Given the description of an element on the screen output the (x, y) to click on. 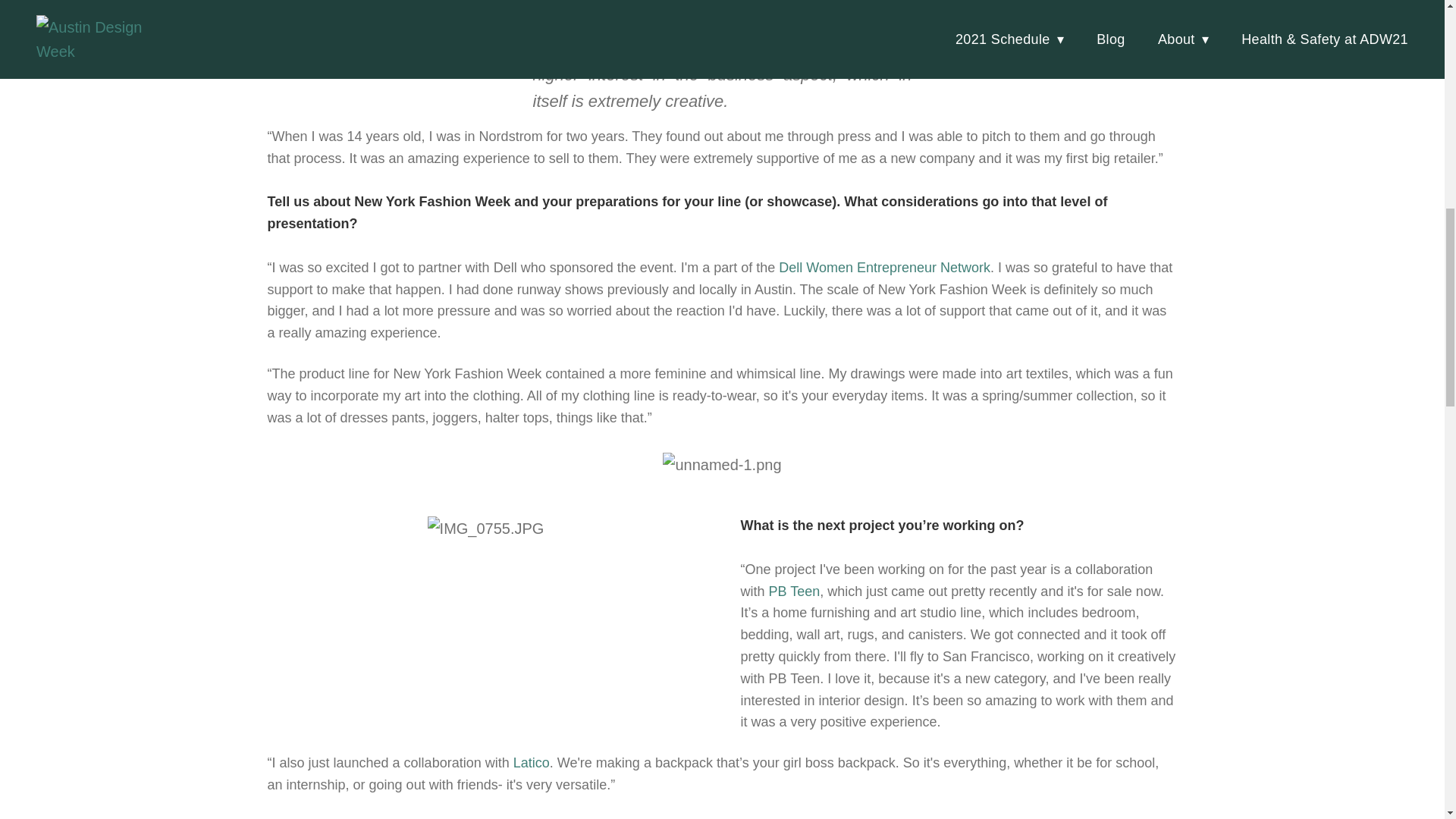
Dell Women Entrepreneur Network (884, 267)
PB Teen (794, 590)
Latico (531, 762)
